Given the description of an element on the screen output the (x, y) to click on. 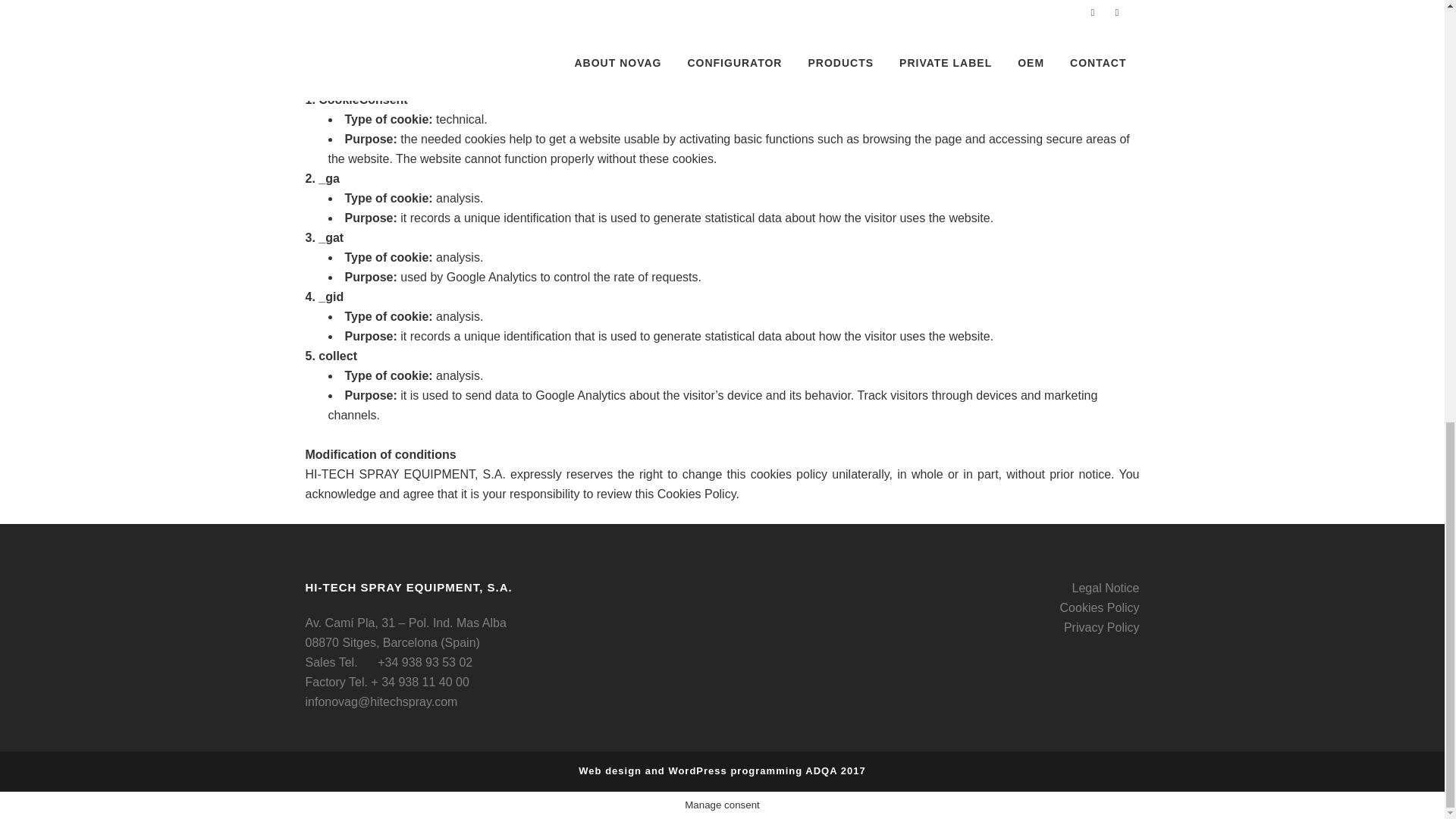
Privacy Policy (1102, 626)
Legal Notice (1105, 587)
Cookies Policy (1099, 607)
